Given the description of an element on the screen output the (x, y) to click on. 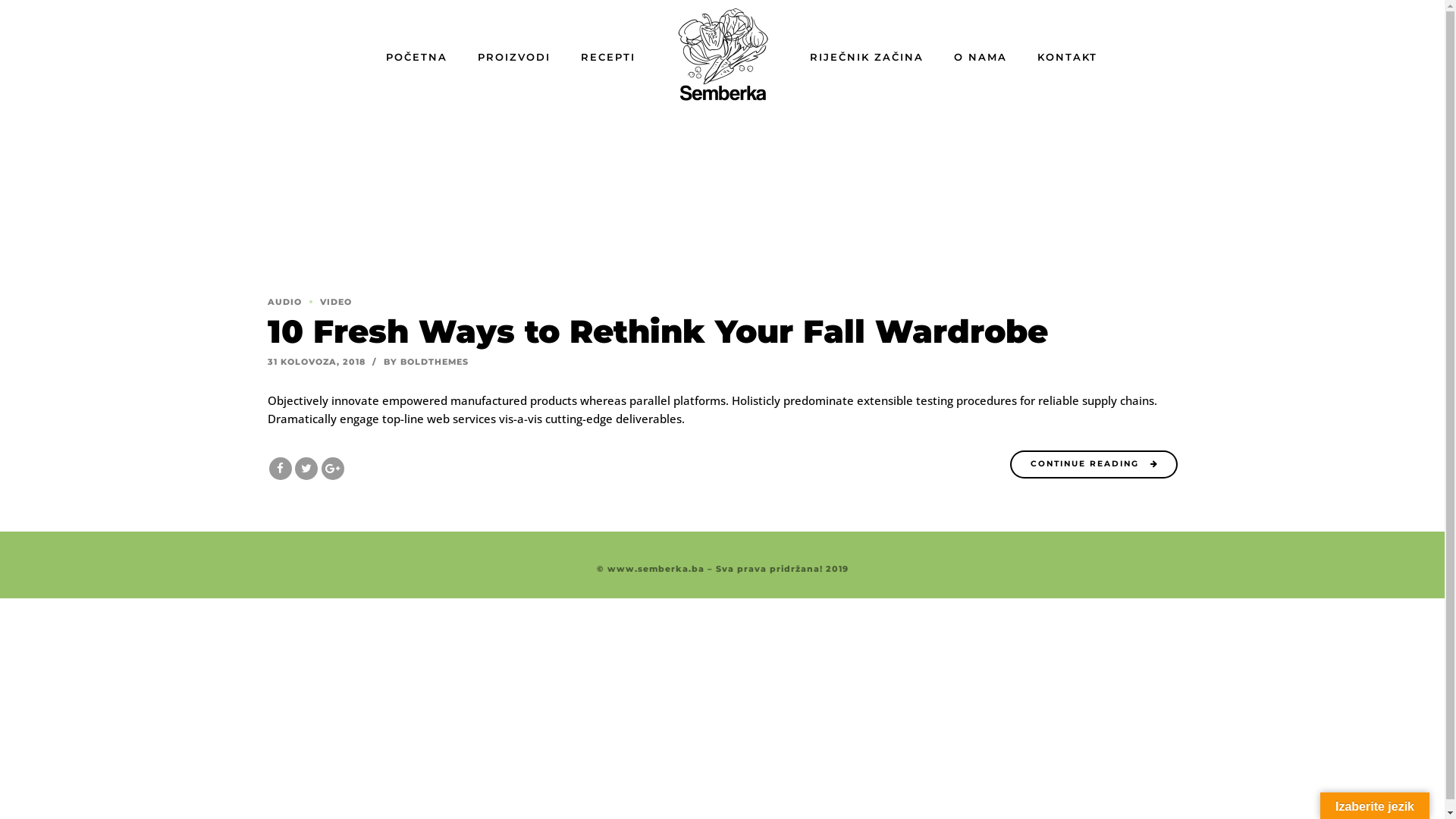
RECEPTI Element type: text (607, 56)
Share on Twitter Element type: hover (305, 467)
Share on Google Plus Element type: hover (332, 467)
10 Fresh Ways to Rethink Your Fall Wardrobe Element type: text (656, 331)
AUDIO Element type: text (283, 301)
Share on Facebook Element type: hover (280, 467)
KONTAKT Element type: text (1067, 56)
O NAMA Element type: text (980, 56)
PROIZVODI Element type: text (513, 56)
CONTINUE READING Element type: text (1093, 464)
BY BOLDTHEMES Element type: text (425, 361)
VIDEO Element type: text (326, 301)
